Given the description of an element on the screen output the (x, y) to click on. 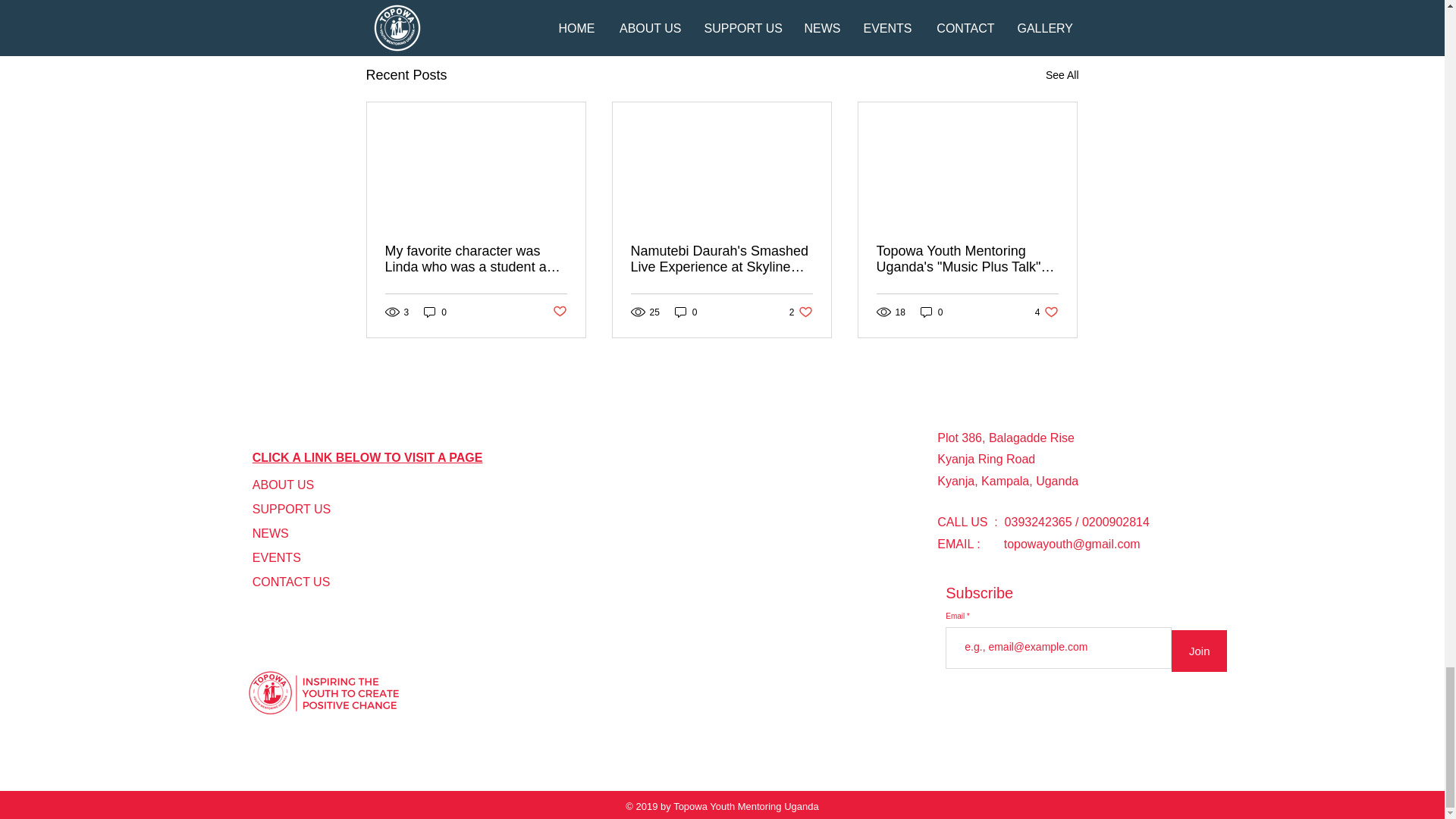
Post not marked as liked (558, 311)
EVENTS (276, 557)
NEWS (269, 533)
CONTACT US (290, 581)
ABOUT US (1046, 311)
0 (282, 484)
See All (435, 311)
SUPPORT US (1061, 75)
0 (290, 508)
0 (800, 311)
